Given the description of an element on the screen output the (x, y) to click on. 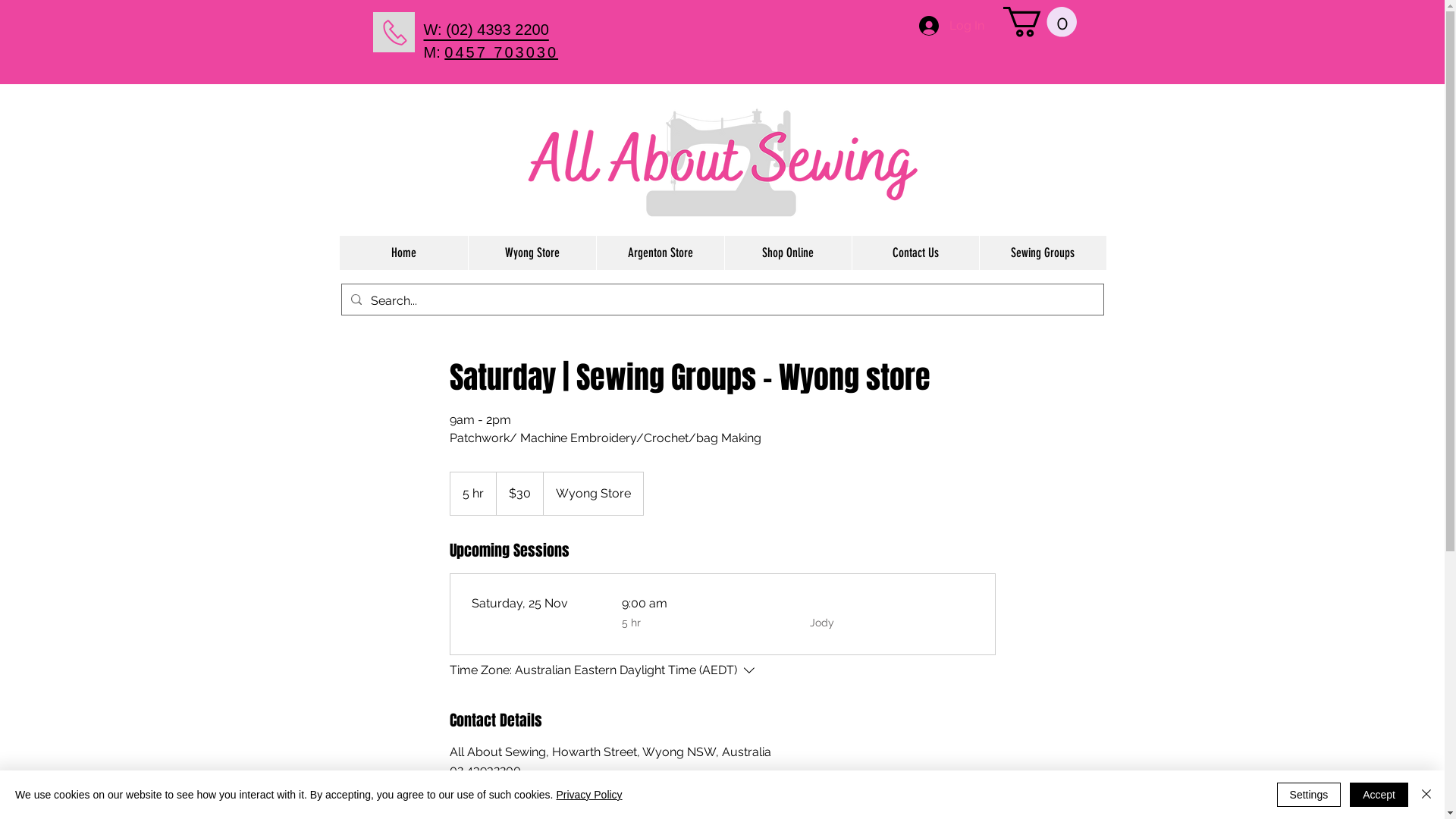
Settings Element type: text (1309, 794)
0 Element type: text (1039, 21)
Shop Online Element type: text (786, 252)
Time Zone:
Australian Eastern Daylight Time (AEDT) Element type: text (604, 670)
W: (02) 4393 2200 Element type: text (485, 29)
Contact Us Element type: text (914, 252)
Home Element type: text (403, 252)
Accept Element type: text (1378, 794)
Wyong Store Element type: text (531, 252)
Sewing Groups Element type: text (1041, 252)
   Element type: text (553, 29)
Argenton Store Element type: text (660, 252)
Privacy Policy Element type: text (588, 794)
0457 703030 Element type: text (501, 51)
Log In Element type: text (951, 25)
